Given the description of an element on the screen output the (x, y) to click on. 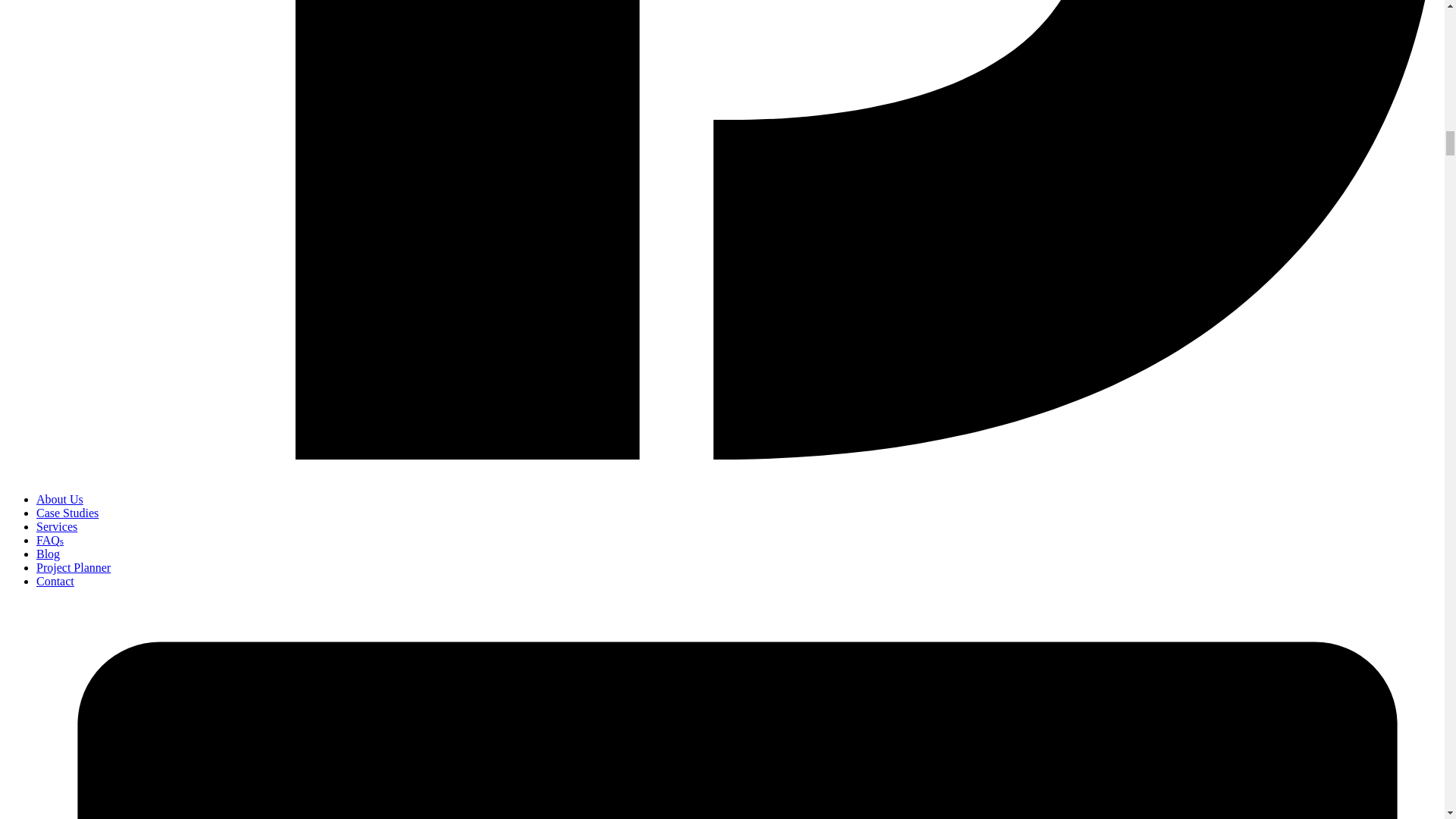
Project Planner (73, 567)
About Us (59, 499)
Services (56, 526)
FAQs (50, 540)
Contact (55, 581)
Blog (47, 553)
Case Studies (67, 512)
